Given the description of an element on the screen output the (x, y) to click on. 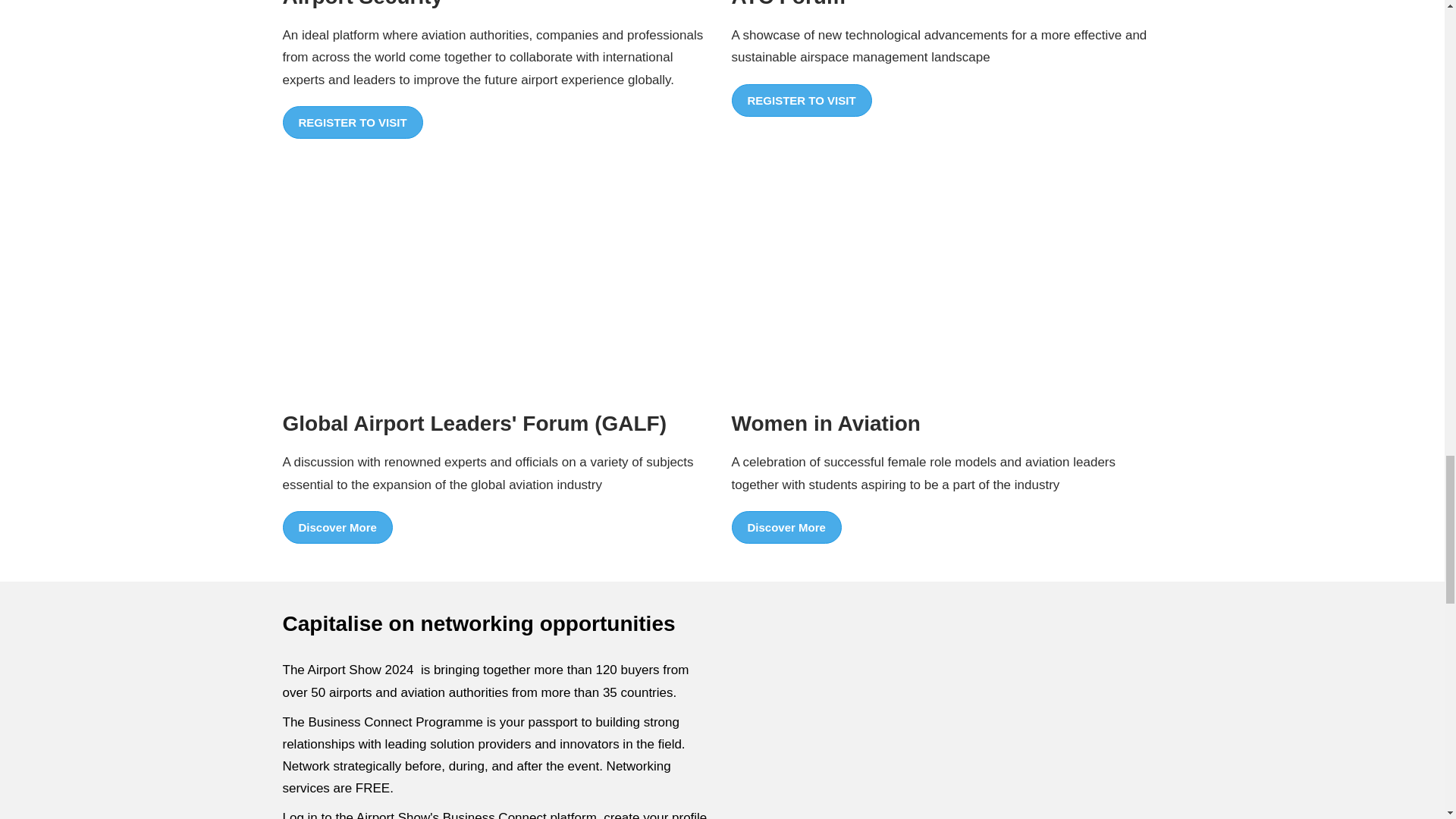
REGISTER TO VISIT (800, 100)
REGISTER TO VISIT (352, 122)
Discover More (785, 527)
Discover More (336, 527)
youtube (945, 739)
